Given the description of an element on the screen output the (x, y) to click on. 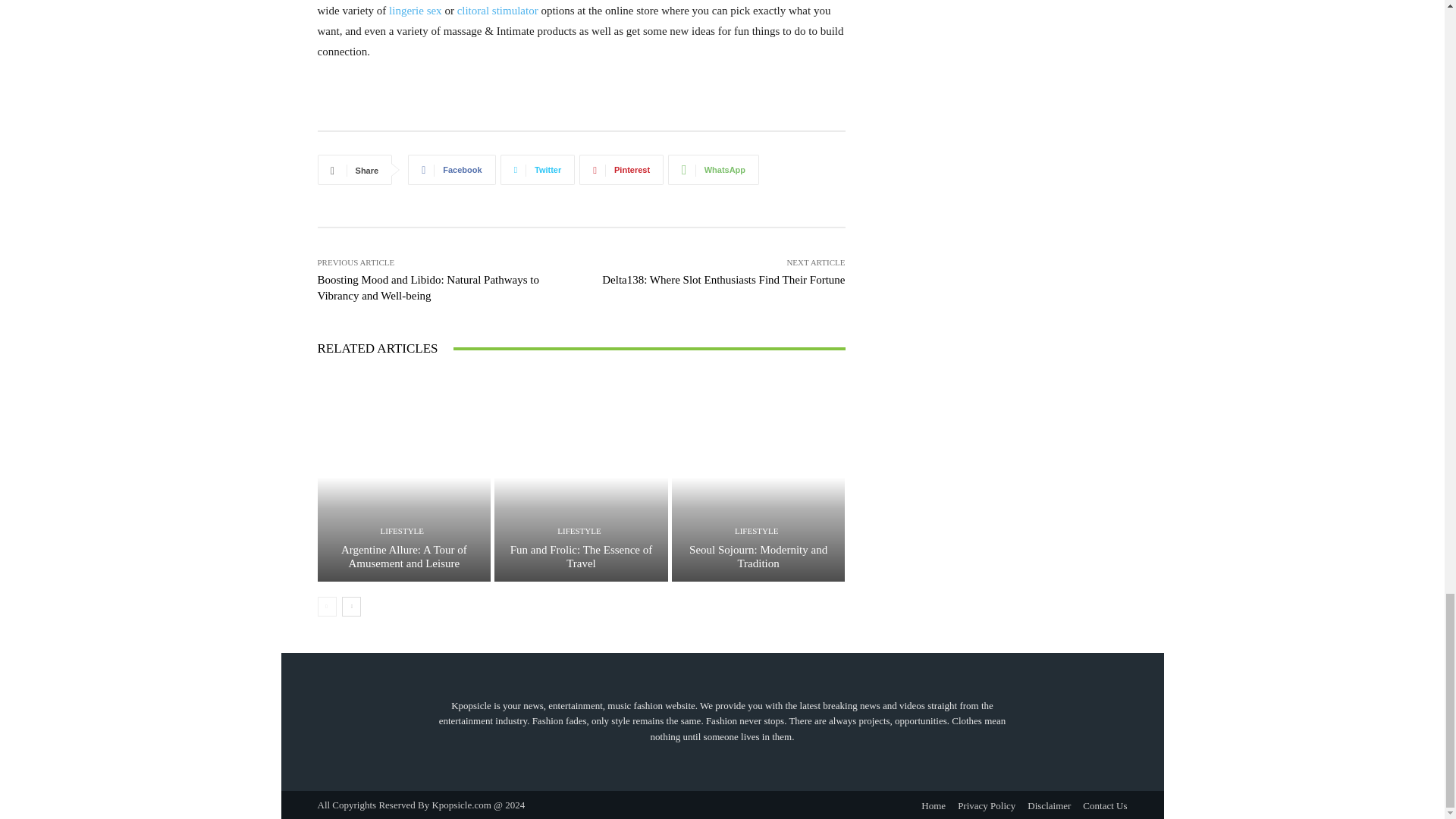
Pinterest (621, 169)
Twitter (537, 169)
Facebook (451, 169)
